Given the description of an element on the screen output the (x, y) to click on. 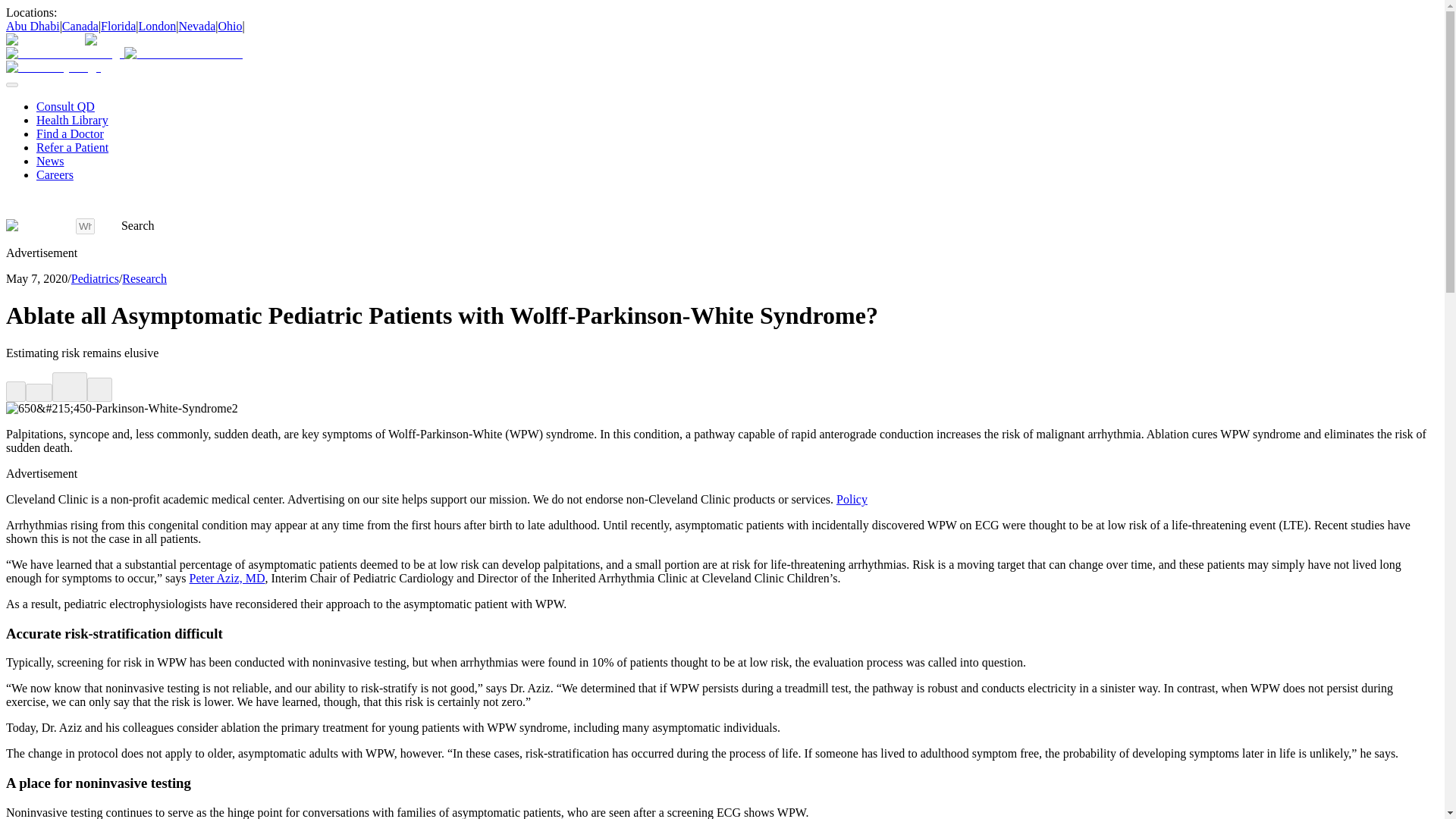
Find a Doctor (69, 133)
Florida (117, 25)
Refer a Patient (71, 146)
Nevada (196, 25)
Policy (851, 499)
Health Library (71, 119)
Research (144, 278)
Consult QD (65, 106)
Abu Dhabi (32, 25)
News (50, 160)
Ohio (230, 25)
Pediatrics (95, 278)
London (157, 25)
Peter Aziz, MD (226, 577)
Canada (80, 25)
